Given the description of an element on the screen output the (x, y) to click on. 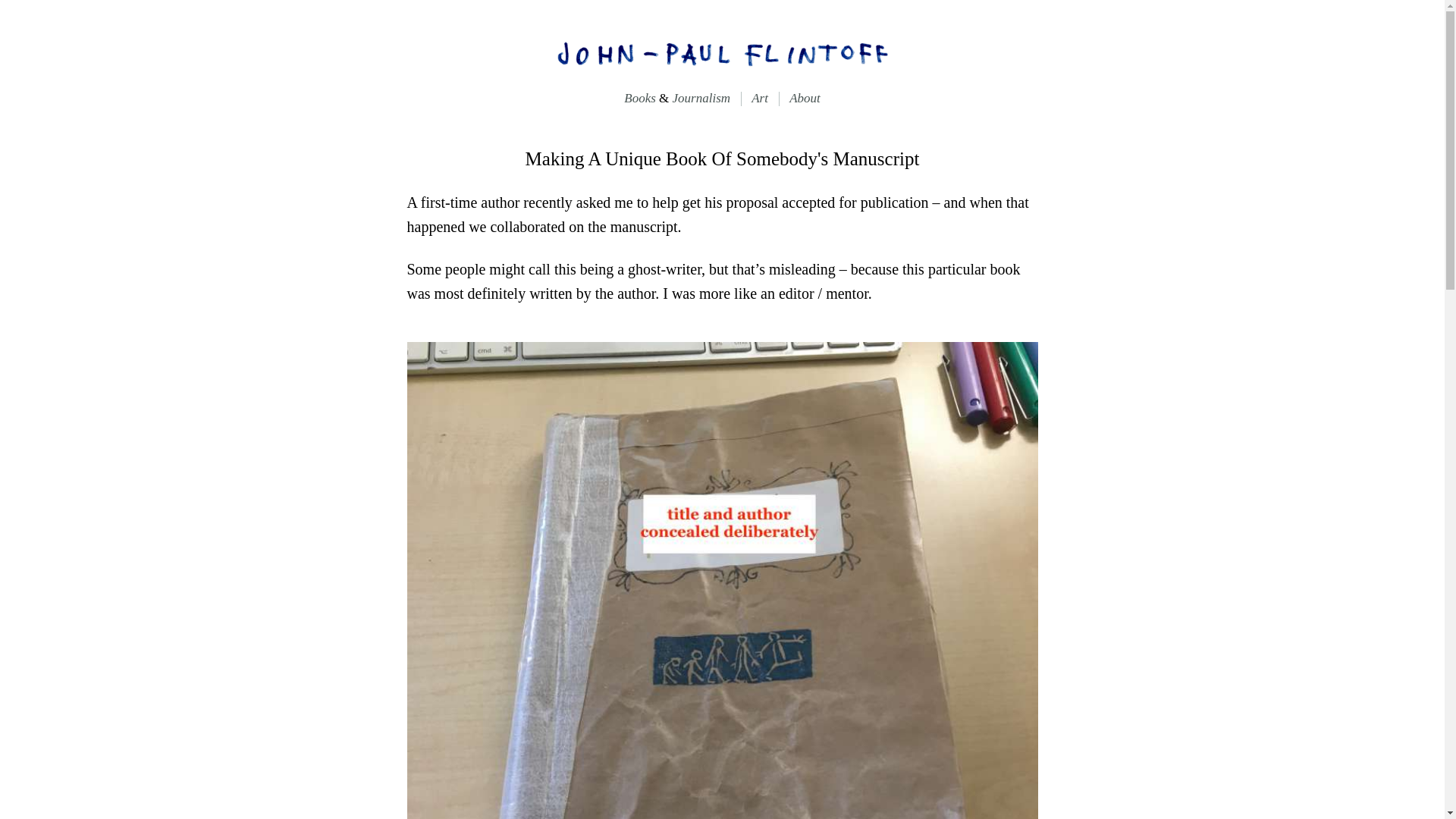
Journalism by me (706, 98)
John-Paul Flintoff (721, 52)
Art (759, 98)
Books (635, 98)
Art (759, 98)
About (804, 98)
My Books (635, 98)
Journalism (706, 98)
About (804, 98)
